Given the description of an element on the screen output the (x, y) to click on. 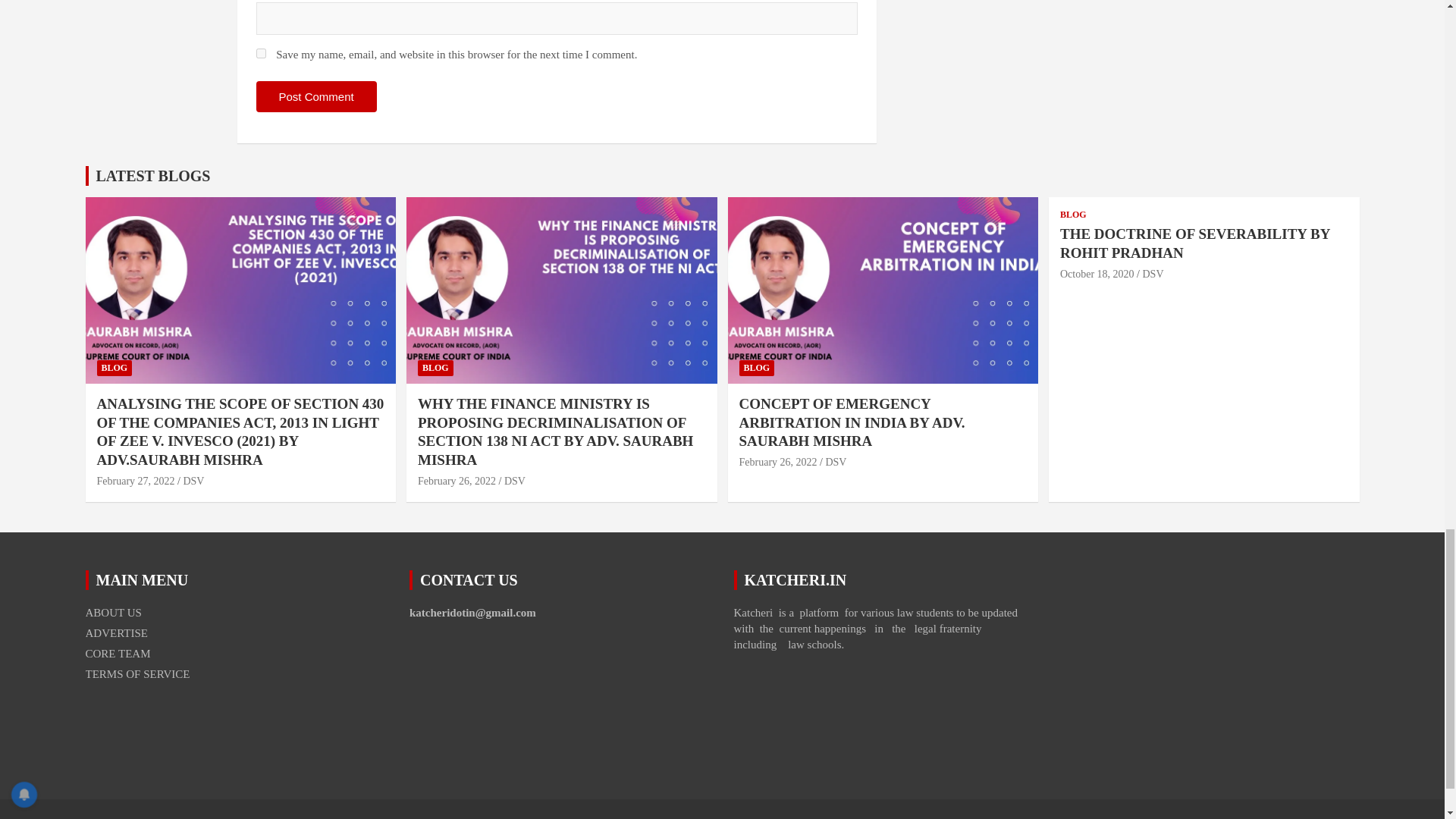
Post Comment (316, 96)
yes (261, 53)
THE DOCTRINE OF SEVERABILITY BY ROHIT PRADHAN (1096, 274)
